Given the description of an element on the screen output the (x, y) to click on. 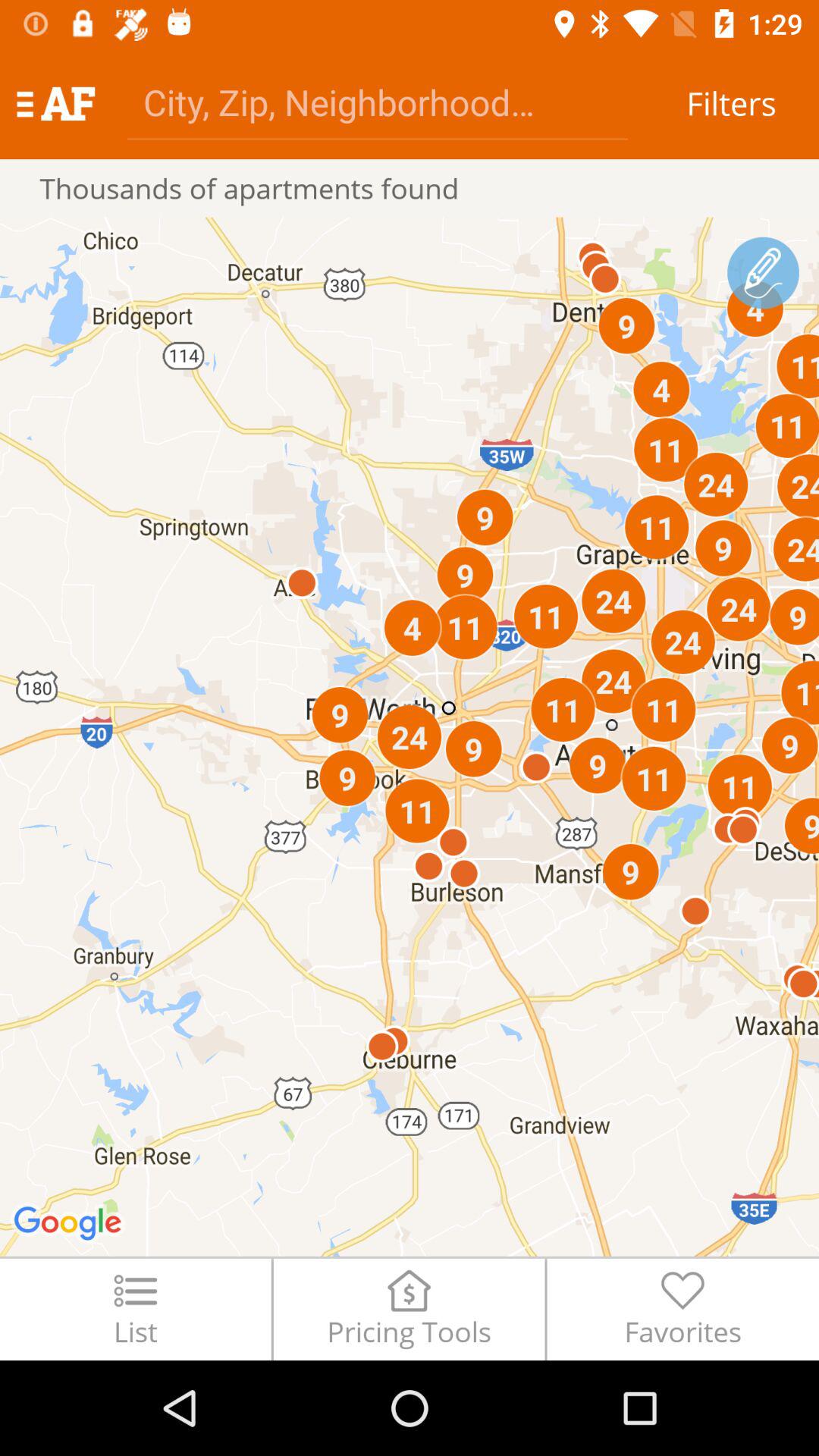
tap item below thousands of apartments item (409, 736)
